Given the description of an element on the screen output the (x, y) to click on. 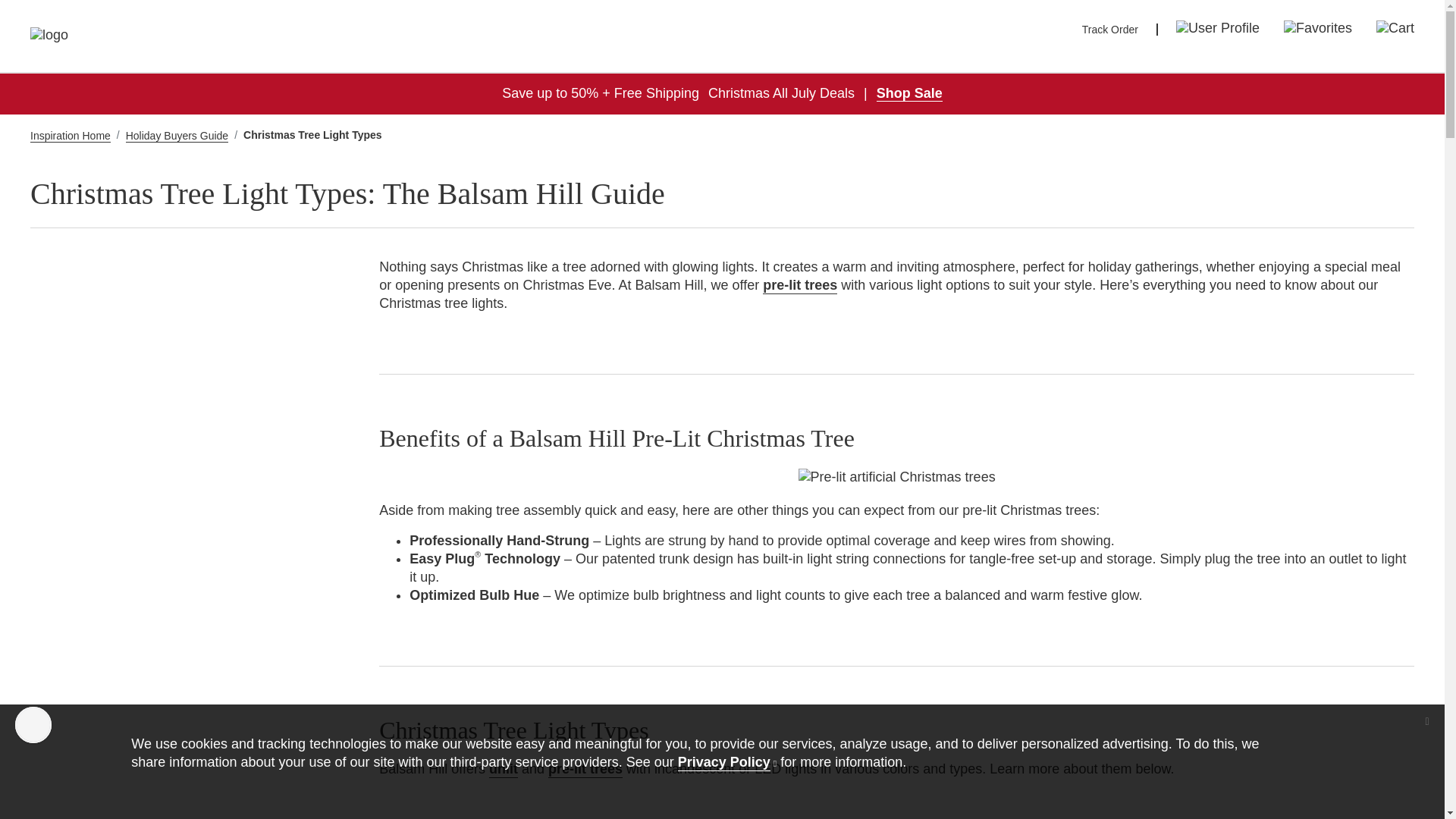
unlit (503, 769)
Holiday Buyers Guide (176, 135)
pre-lit trees (799, 285)
Privacy Policy (727, 761)
Enable accessibility (32, 724)
Shop Sale (909, 93)
Inspiration Home (70, 135)
Track Order (1109, 29)
pre-lit trees (585, 769)
